Given the description of an element on the screen output the (x, y) to click on. 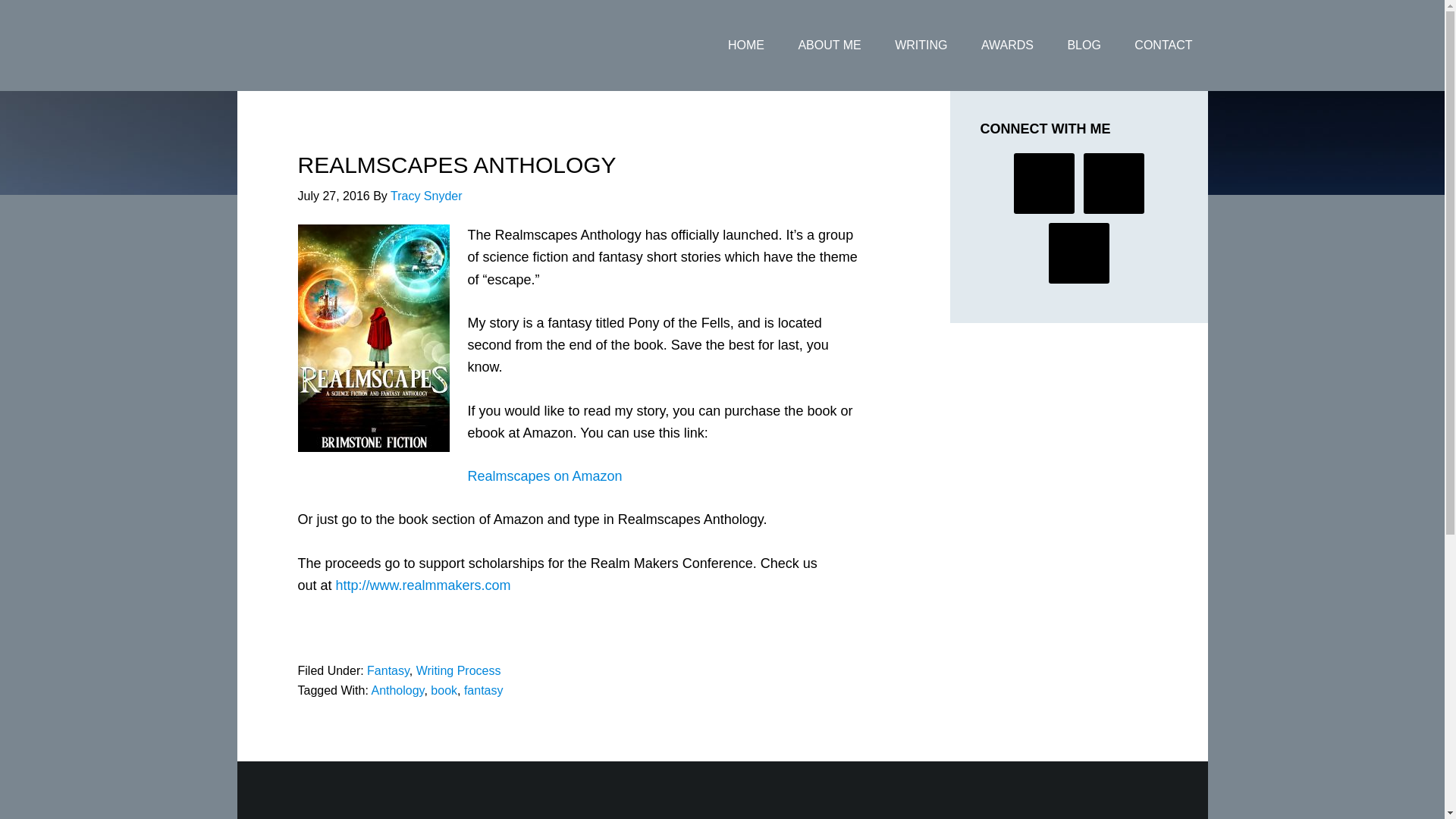
Fantasy (387, 670)
Anthology (397, 689)
WRITING (920, 45)
Realmscapes on Amazon (544, 476)
Tracy Snyder (426, 195)
Tracy L. Snyder, Author (357, 45)
CONTACT (1163, 45)
book (443, 689)
ABOUT ME (829, 45)
AWARDS (1007, 45)
